Given the description of an element on the screen output the (x, y) to click on. 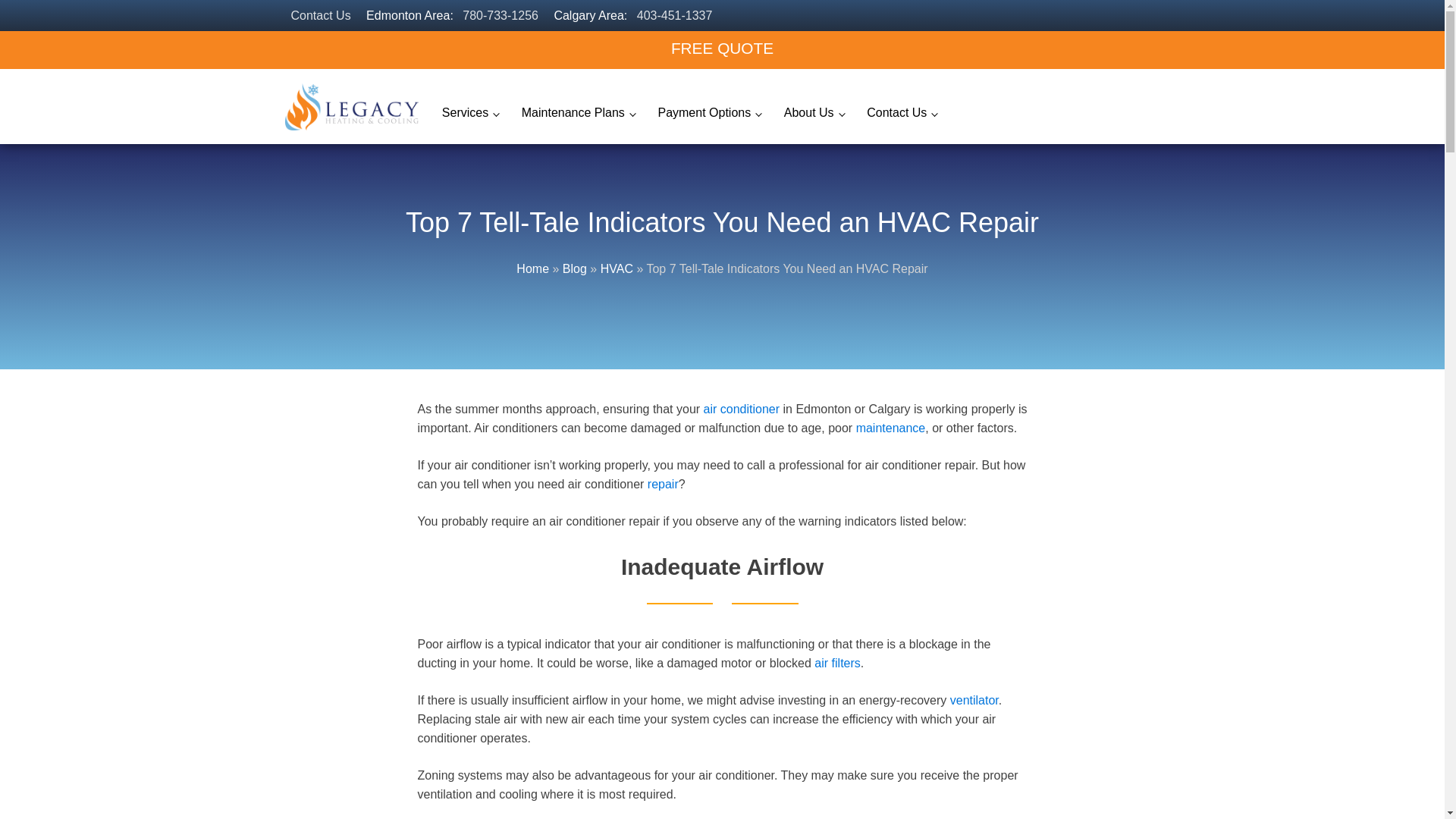
Services (470, 113)
Contact Us (320, 15)
Maintenance Plans (578, 113)
780-733-1256 (500, 15)
403-451-1337 (675, 15)
Payment Options (708, 113)
